Given the description of an element on the screen output the (x, y) to click on. 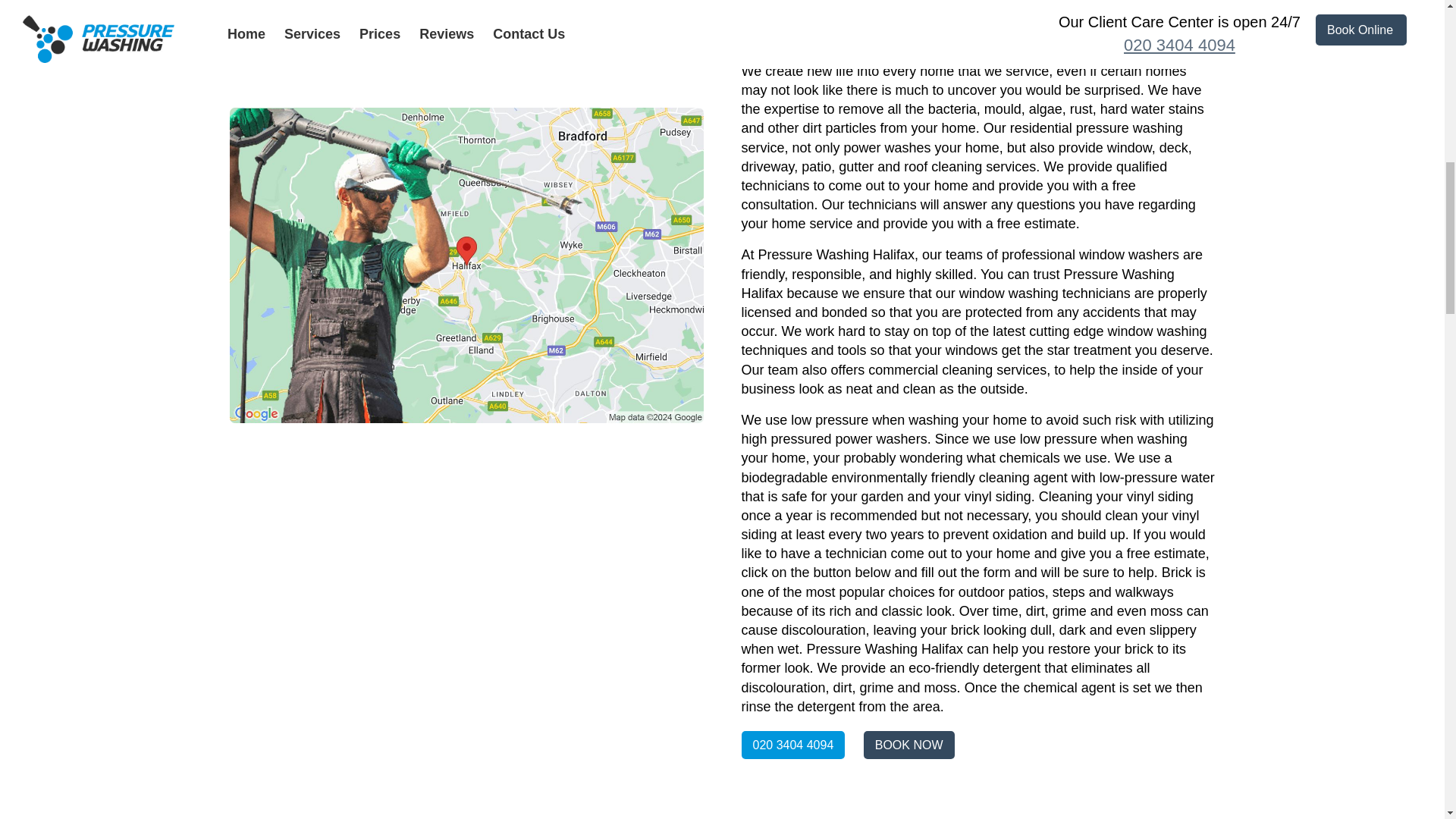
BOOK NOW (909, 745)
020 3404 4094 (793, 745)
